Given the description of an element on the screen output the (x, y) to click on. 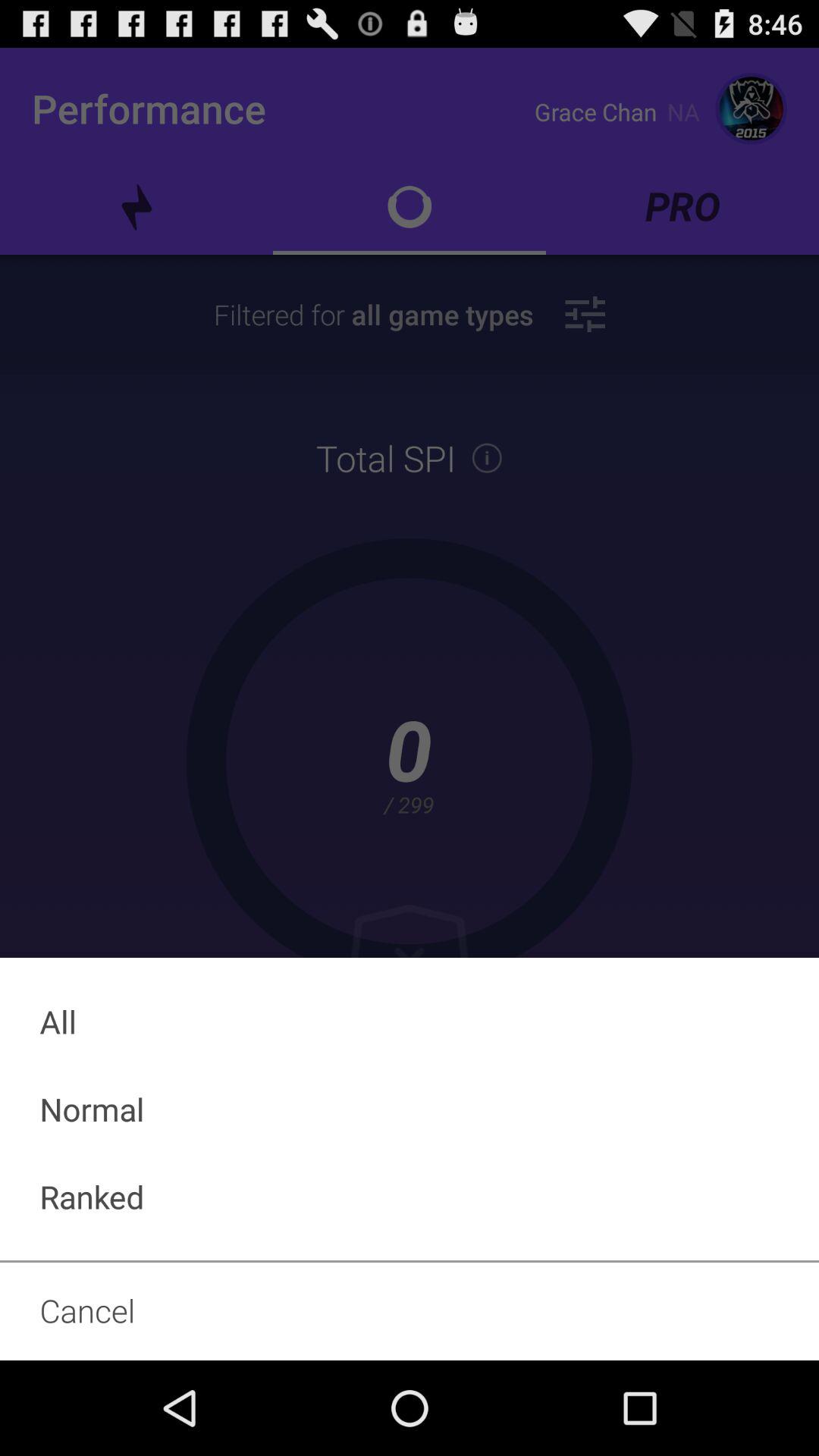
press icon above ranked item (409, 1108)
